Given the description of an element on the screen output the (x, y) to click on. 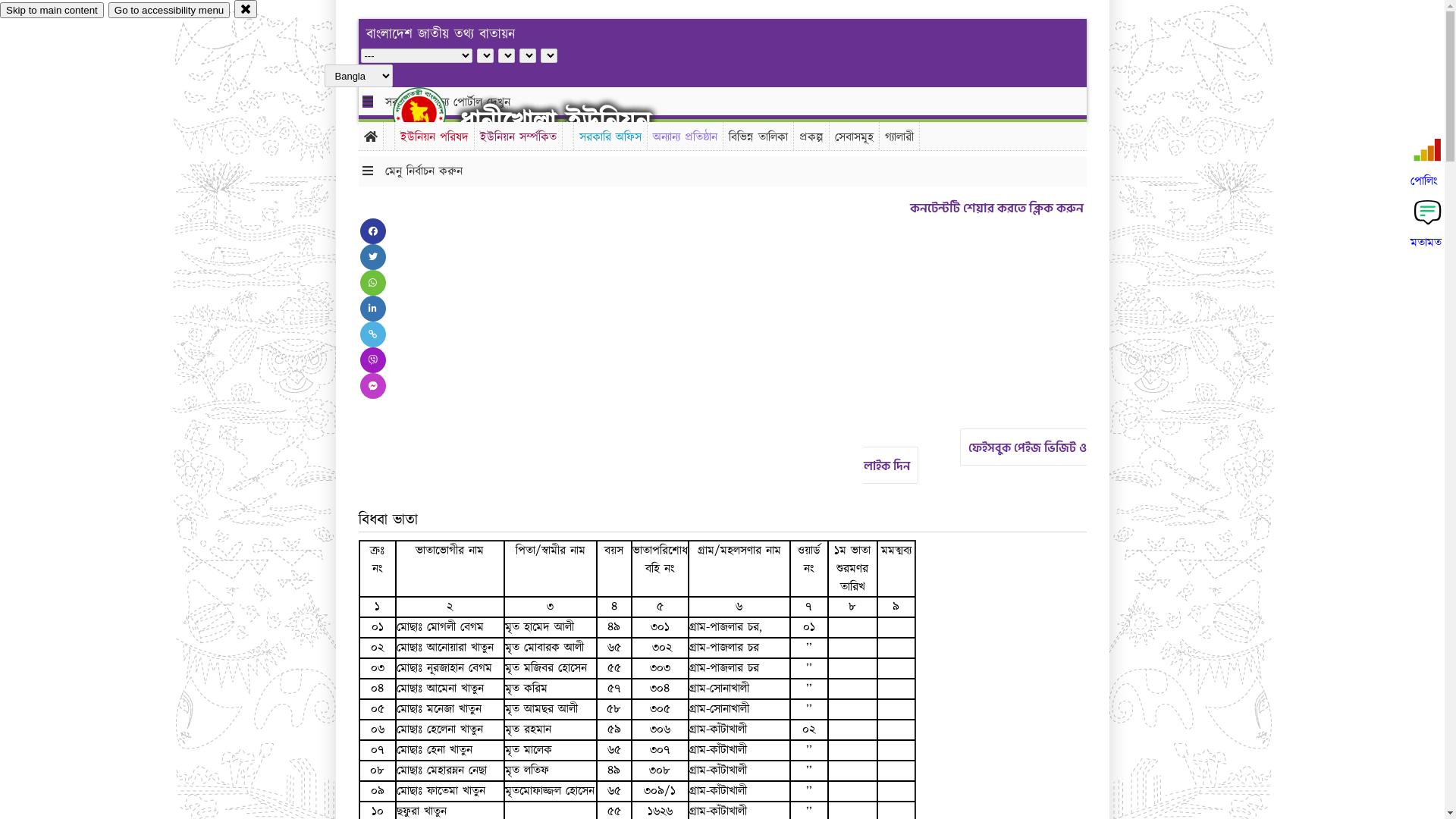
Go to accessibility menu Element type: text (168, 10)

                
             Element type: hover (431, 112)
Skip to main content Element type: text (51, 10)
close Element type: hover (245, 9)
